Given the description of an element on the screen output the (x, y) to click on. 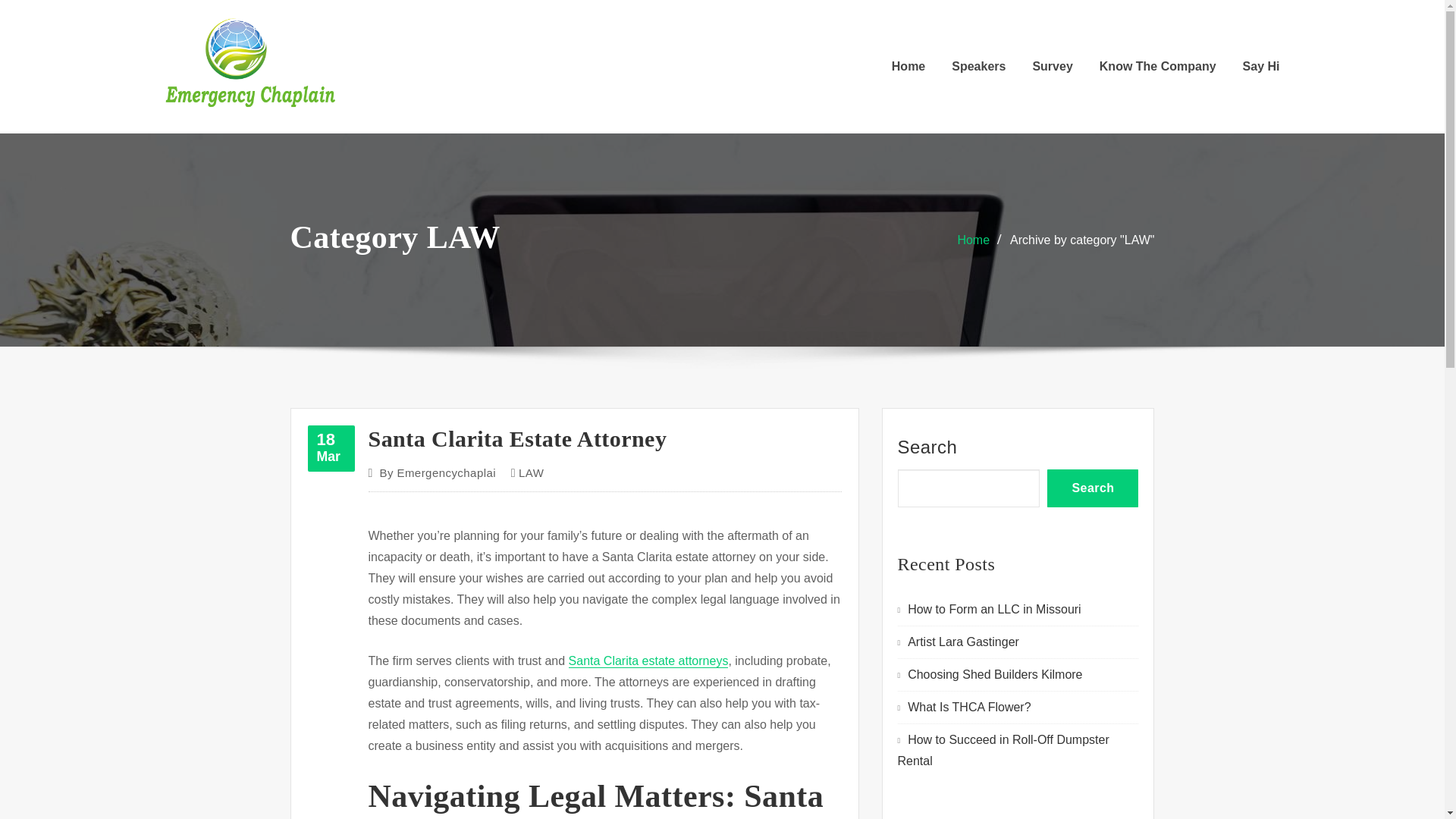
Home (973, 239)
Know The Company (1157, 66)
What Is THCA Flower? (968, 707)
Santa Clarita estate attorneys (649, 660)
Choosing Shed Builders Kilmore (994, 674)
Speakers (979, 66)
LAW (530, 473)
Archive by category "LAW" (1082, 239)
Say Hi (1261, 66)
By Emergencychaplai (437, 473)
Search (330, 448)
Home (1092, 487)
Santa Clarita Estate Attorney (907, 66)
How to Succeed in Roll-Off Dumpster Rental (517, 438)
